Given the description of an element on the screen output the (x, y) to click on. 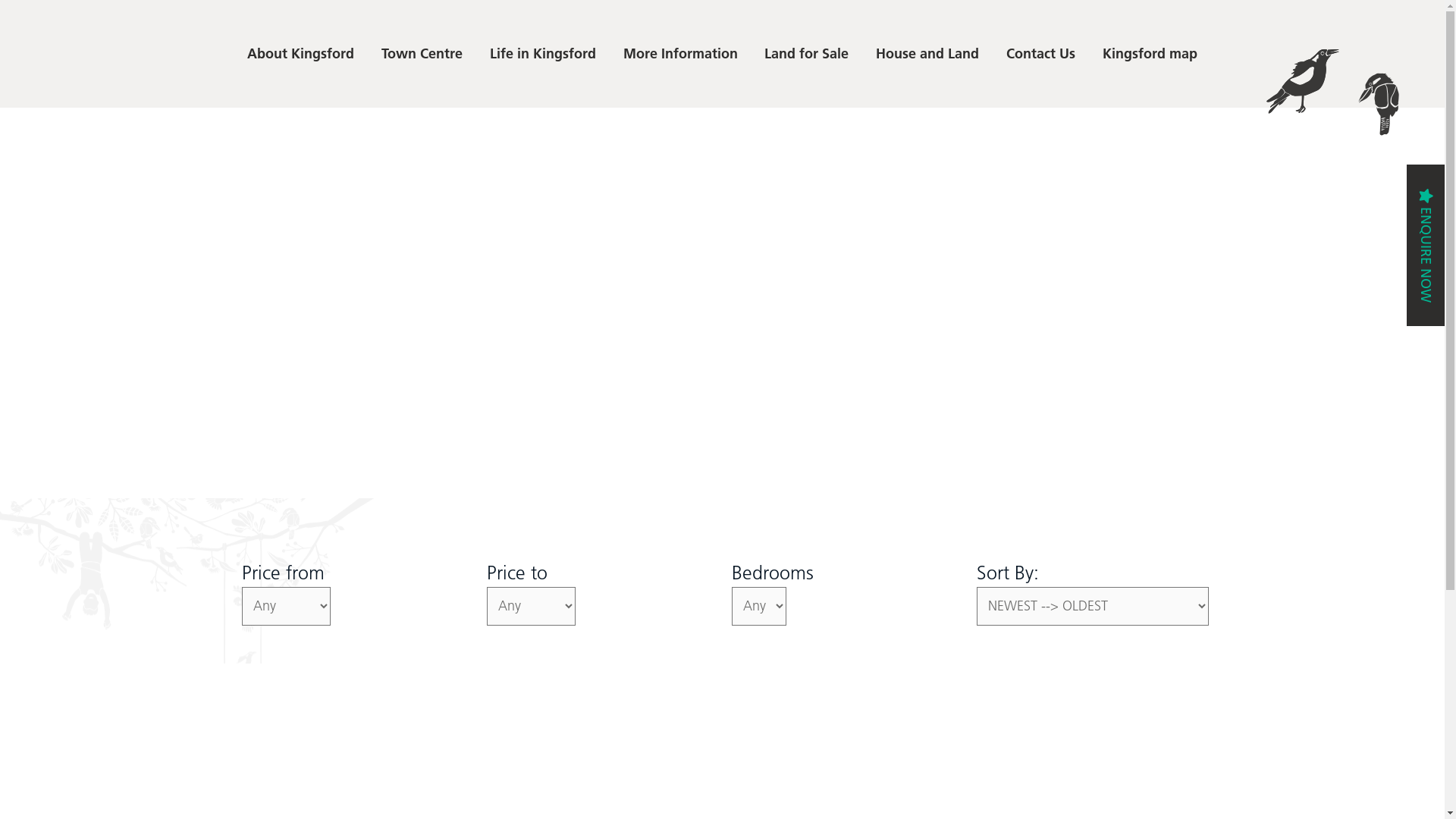
About Kingsford Element type: text (300, 53)
More Information Element type: text (680, 53)
Town Centre Element type: text (421, 53)
Land for Sale Element type: text (806, 53)
Kingsford map Element type: text (1149, 53)
Life in Kingsford Element type: text (542, 53)
House and Land Element type: text (927, 53)
Contact Us Element type: text (1040, 53)
